Given the description of an element on the screen output the (x, y) to click on. 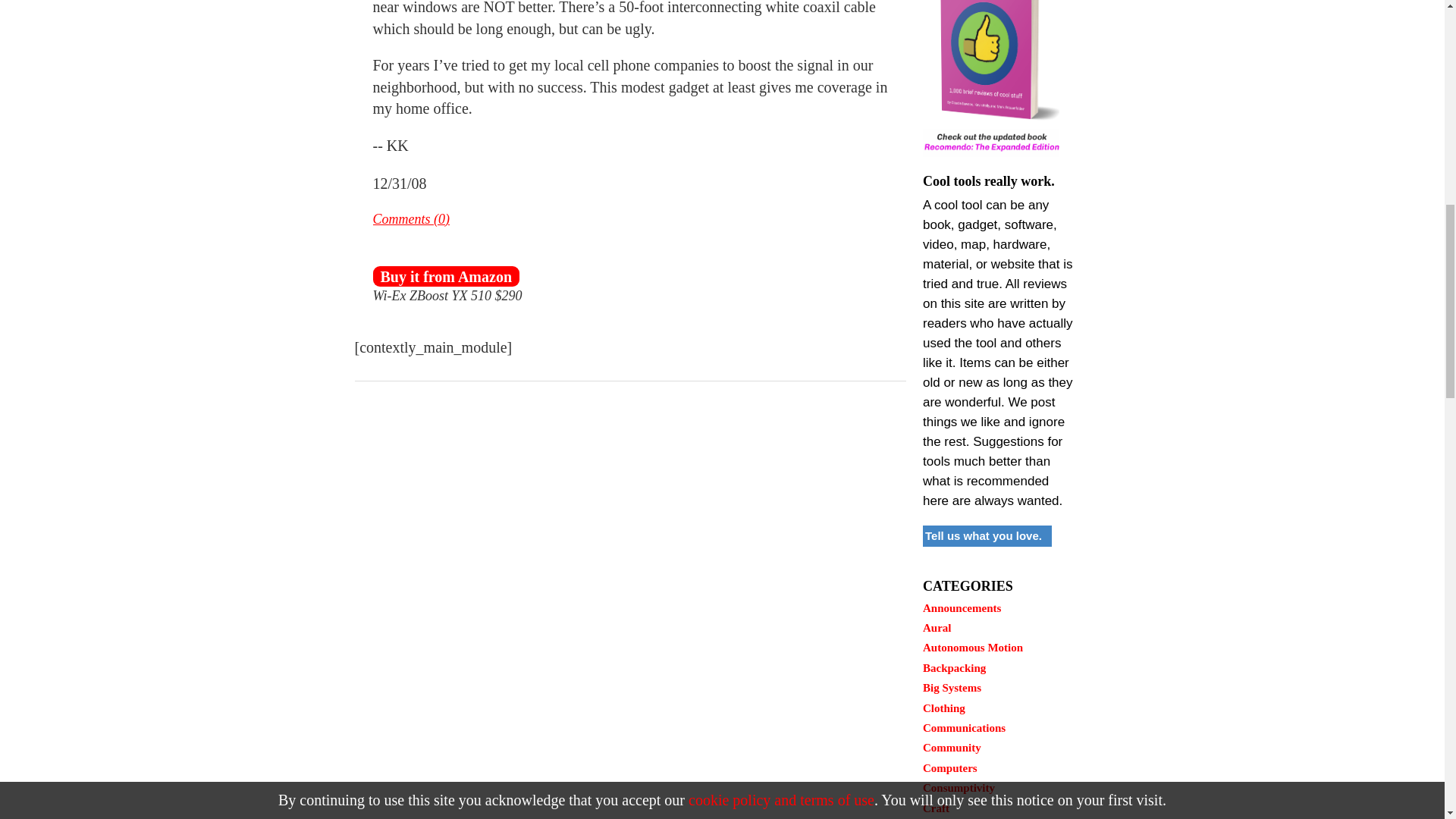
Backpacking (954, 667)
Announcements (962, 607)
Communications (964, 727)
Aural (937, 627)
Tell us what you love. (987, 535)
Big Systems (952, 687)
Buy it from Amazon (446, 276)
Autonomous Motion (973, 647)
Clothing (944, 707)
